Given the description of an element on the screen output the (x, y) to click on. 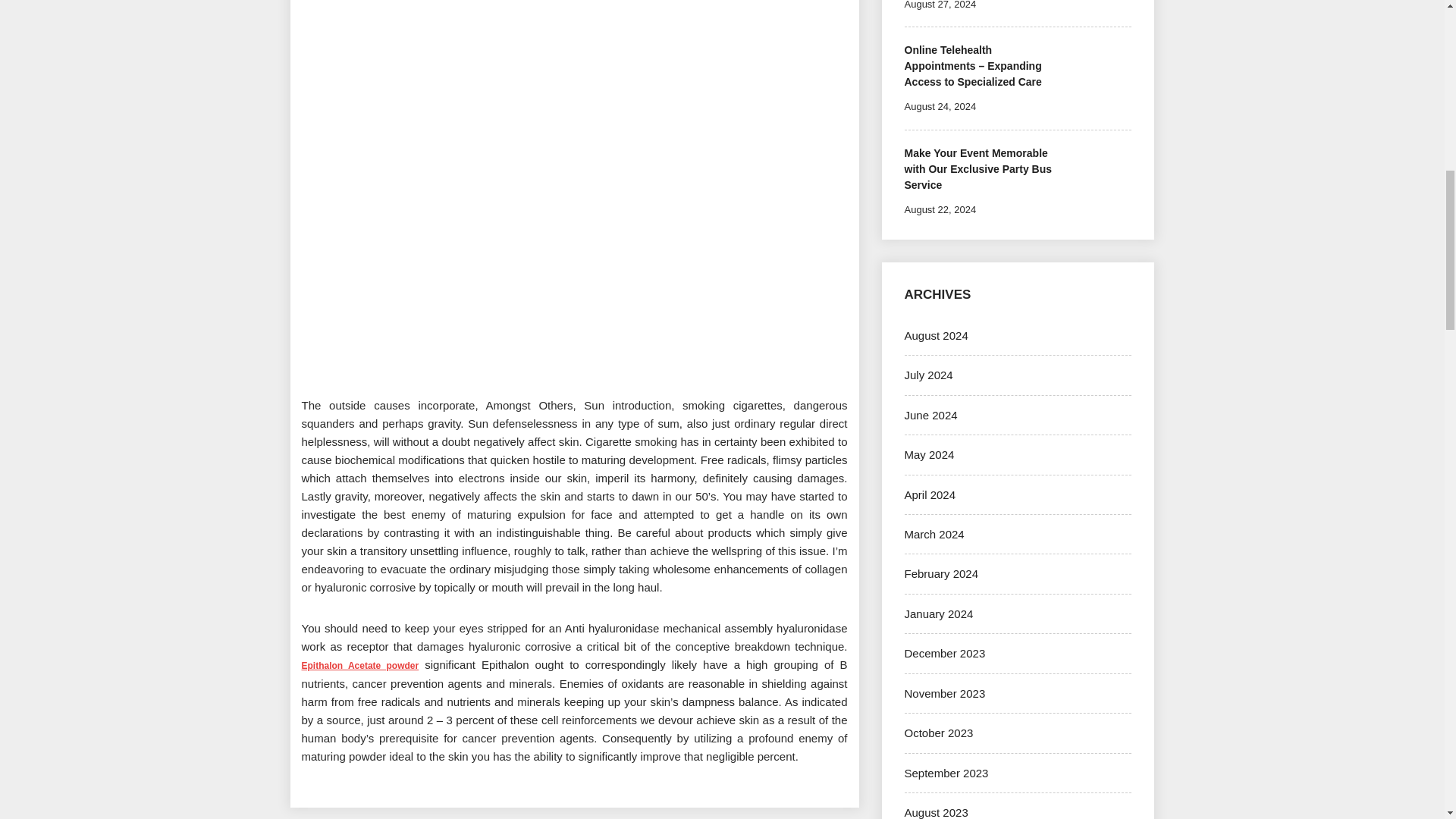
March 2024 (933, 533)
December 2023 (944, 653)
June 2024 (930, 414)
July 2024 (928, 374)
February 2024 (941, 573)
August 2024 (936, 335)
January 2024 (938, 613)
November 2023 (944, 693)
Epithalon Acetate powder (360, 664)
